Given the description of an element on the screen output the (x, y) to click on. 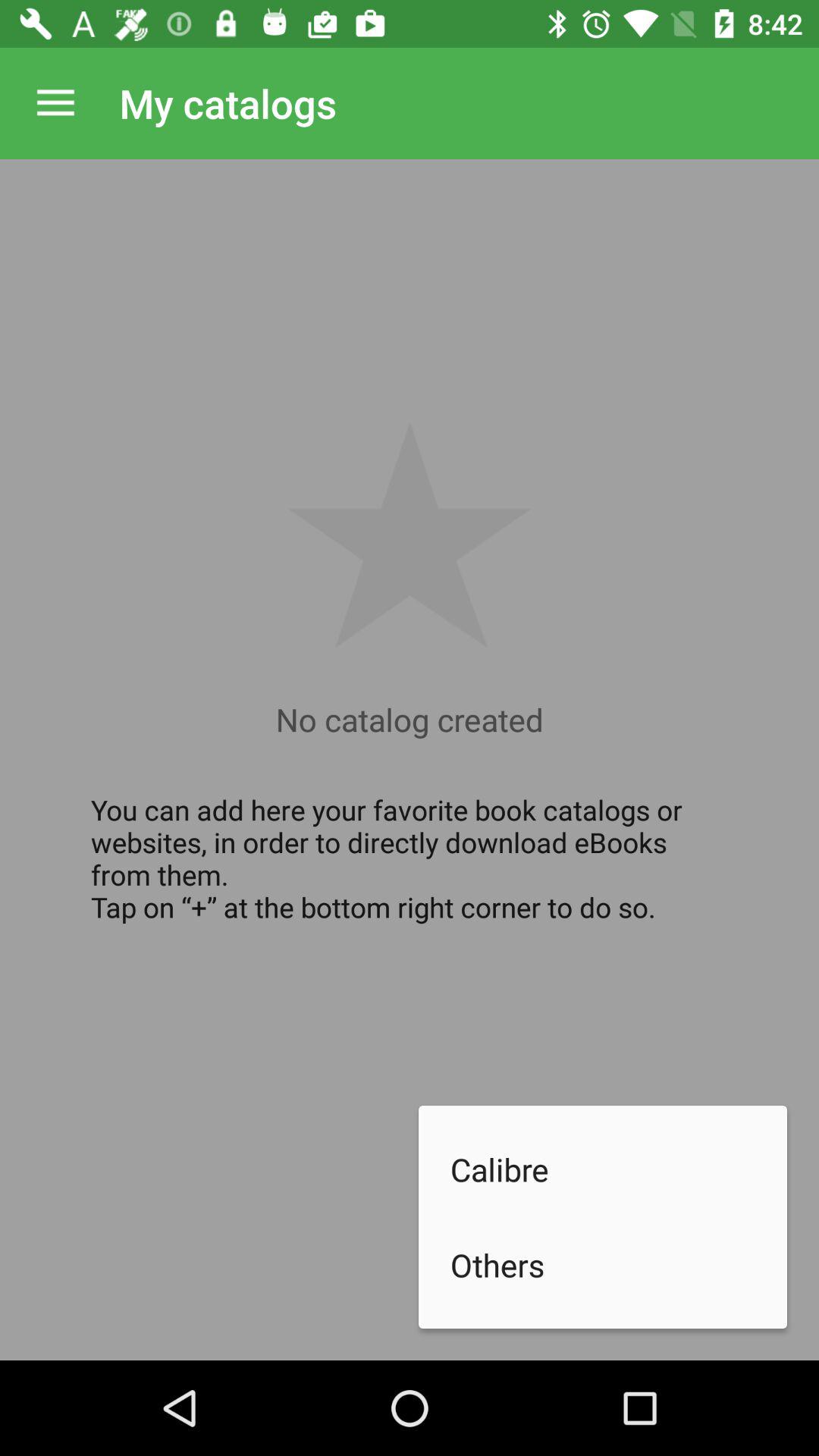
jump to calibre item (618, 1169)
